Given the description of an element on the screen output the (x, y) to click on. 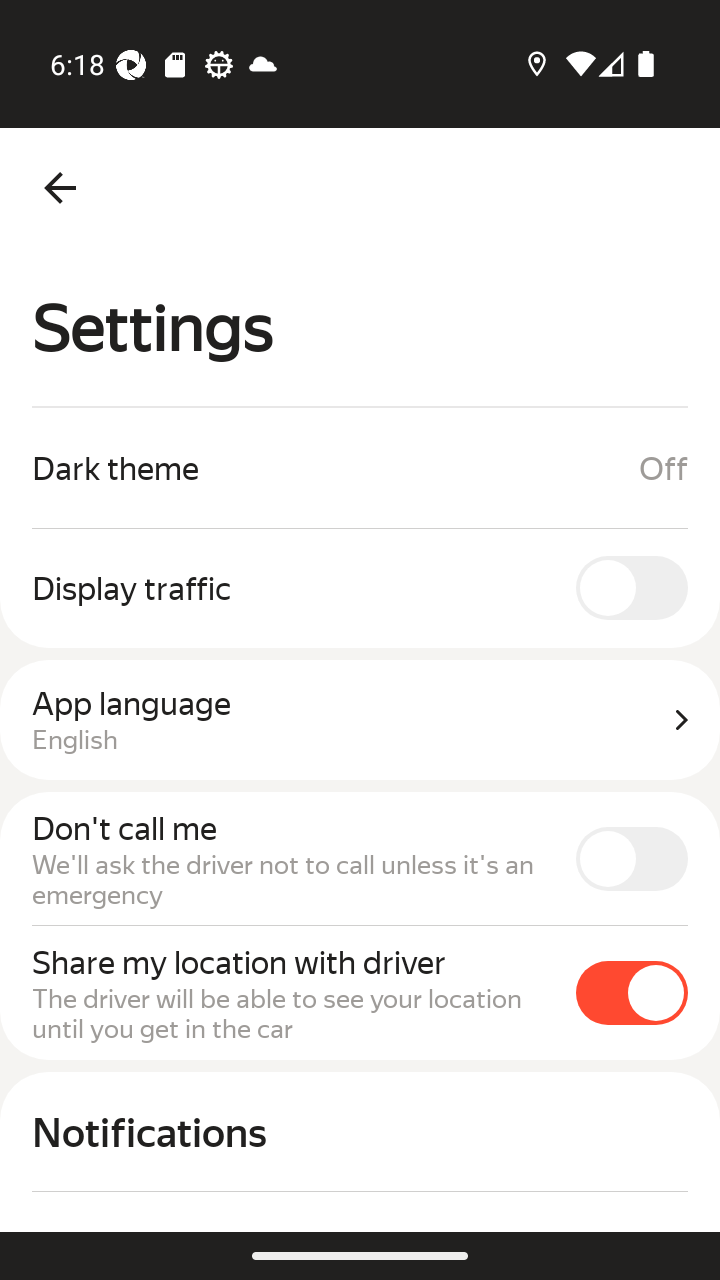
Back (60, 188)
Dark theme Dark theme Off Off (360, 467)
Display traffic (360, 587)
App language, English App language English (360, 719)
